Given the description of an element on the screen output the (x, y) to click on. 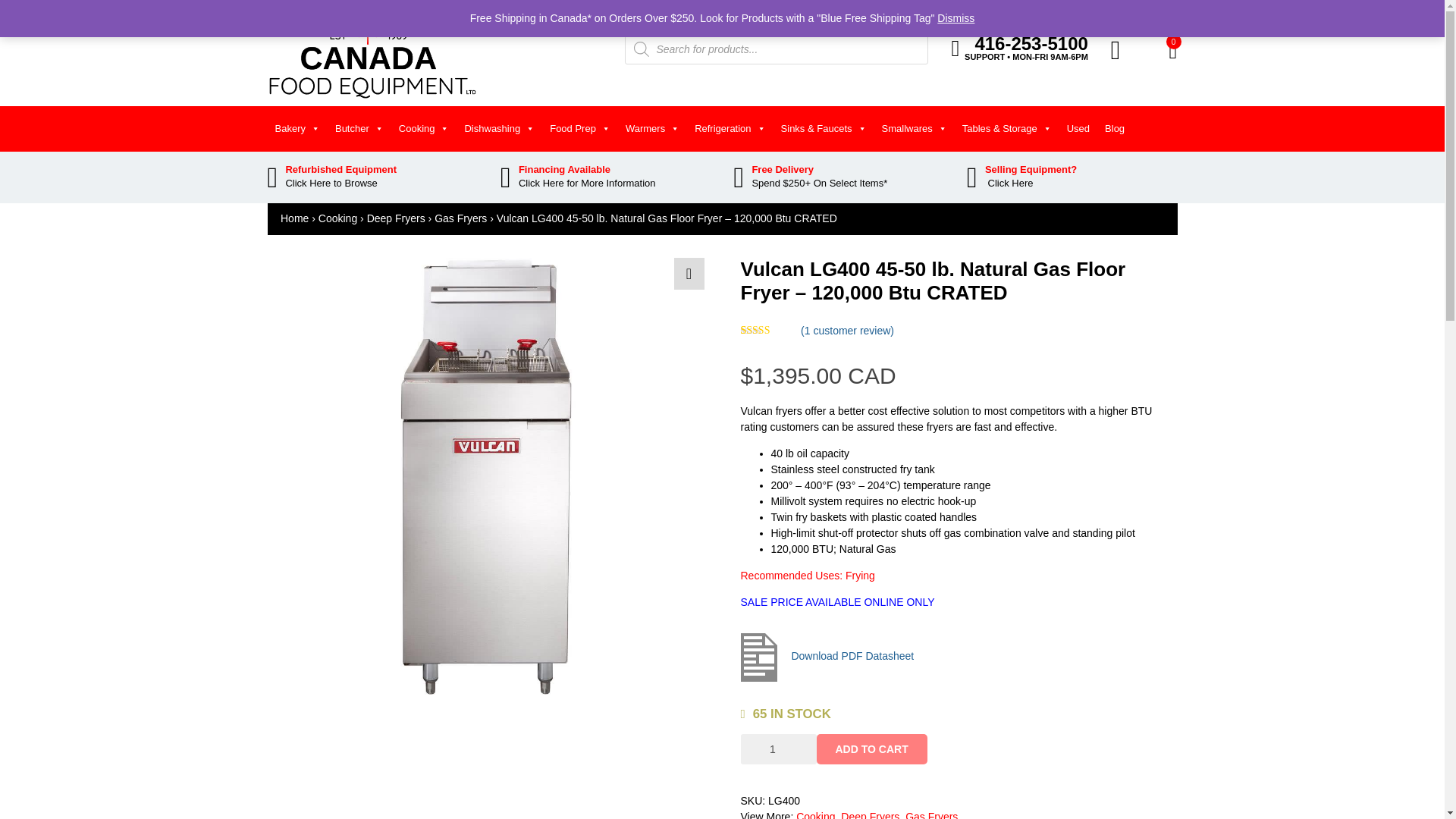
Cooking (424, 128)
Butcher (359, 128)
1 (777, 748)
Bakery (296, 128)
